Given the description of an element on the screen output the (x, y) to click on. 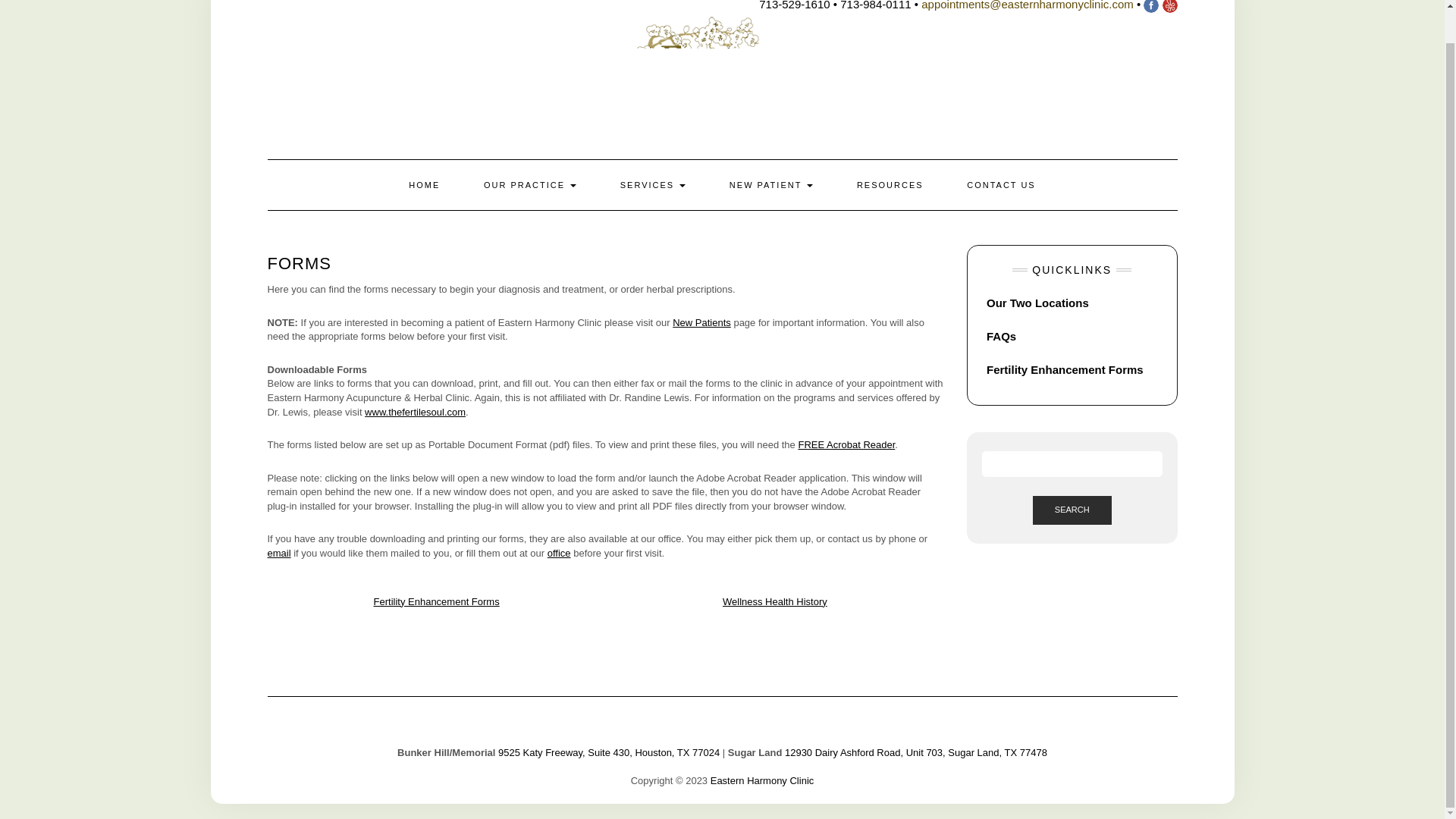
New Patients (701, 322)
OUR PRACTICE (529, 184)
email (277, 552)
email us (1027, 5)
office (558, 552)
CONTACT US (1001, 184)
FREE Acrobat Reader (846, 444)
SERVICES (652, 184)
HOME (424, 184)
facebook (1150, 5)
www.thefertilesoul.com (415, 411)
RESOURCES (889, 184)
yelp (1168, 5)
Wellness Health History (774, 600)
NEW PATIENT (770, 184)
